Given the description of an element on the screen output the (x, y) to click on. 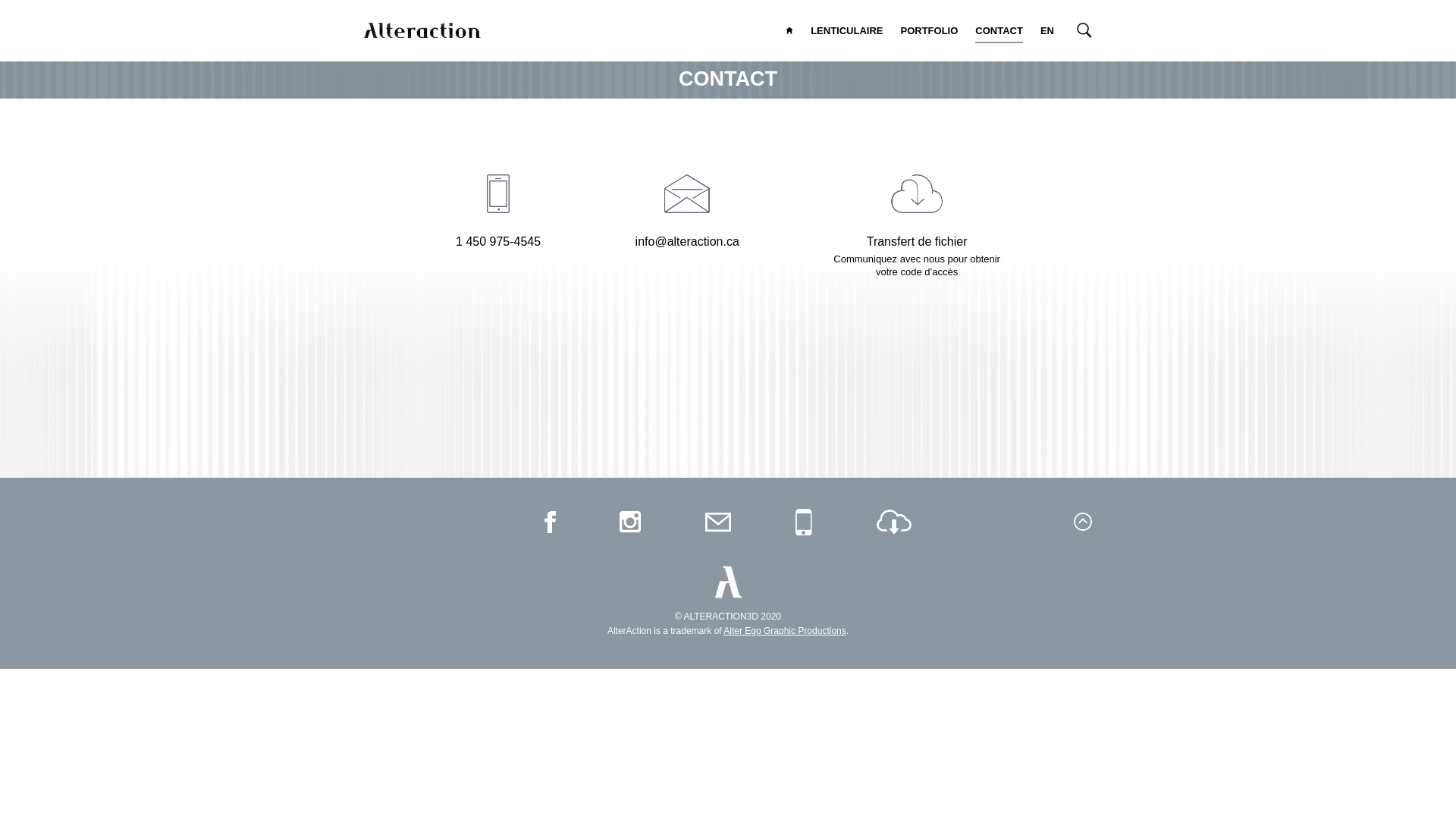
CONTACT Element type: text (998, 33)
LENTICULAIRE Element type: text (846, 33)
info@alteraction.ca Element type: text (687, 213)
PORTFOLIO Element type: text (929, 33)
Alter Ego Graphic Productions Element type: text (784, 630)
EN Element type: text (1047, 33)
1 450 975-4545 Element type: text (497, 213)
